Given the description of an element on the screen output the (x, y) to click on. 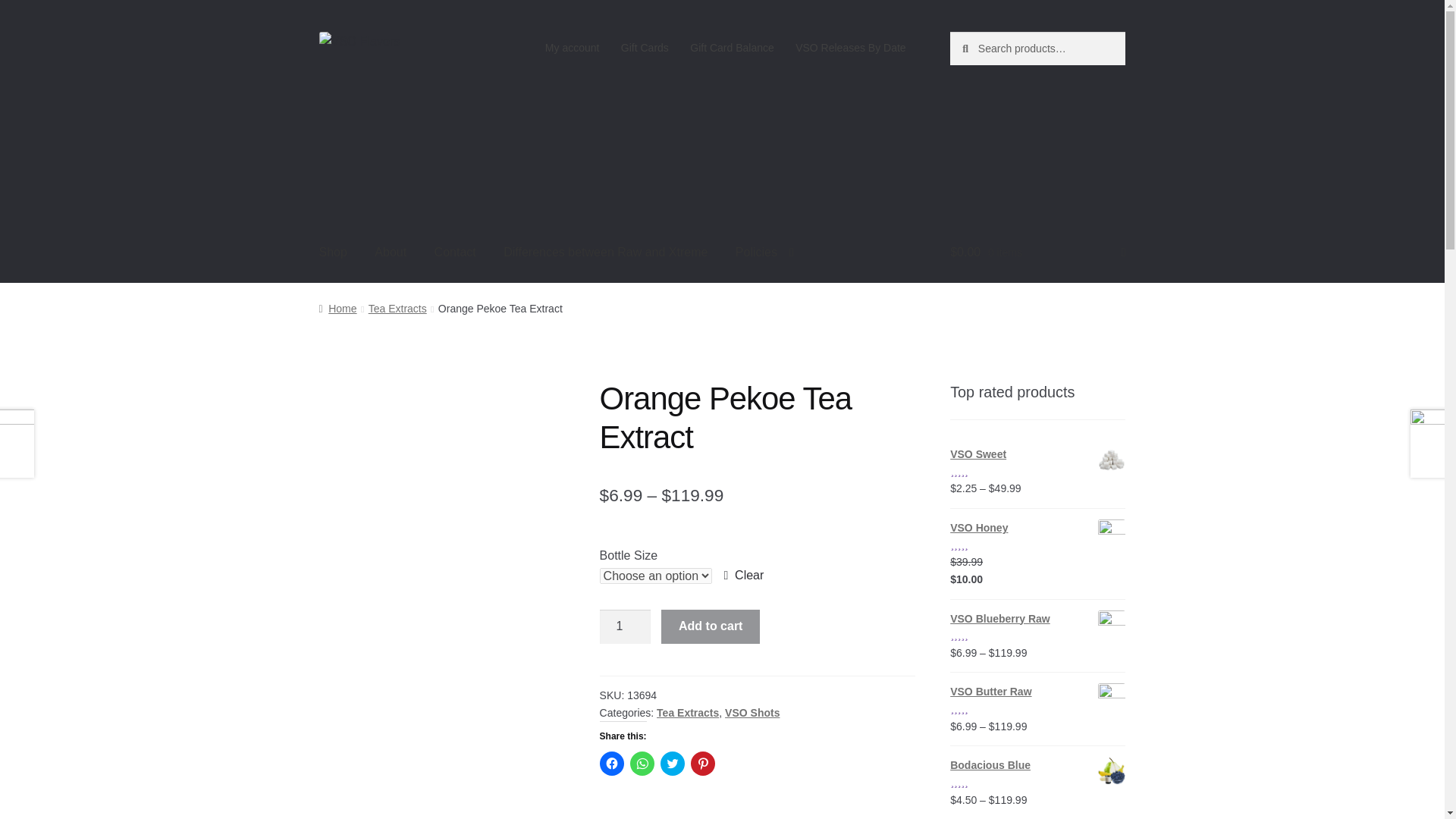
Contact (454, 252)
Tea Extracts (397, 308)
Click to share on Facebook (611, 763)
1 (624, 626)
VSO Shots (751, 712)
Add to cart (710, 626)
Gift Card Balance (732, 47)
Tea Extracts (687, 712)
Differences between Raw and Xtreme (605, 252)
